Given the description of an element on the screen output the (x, y) to click on. 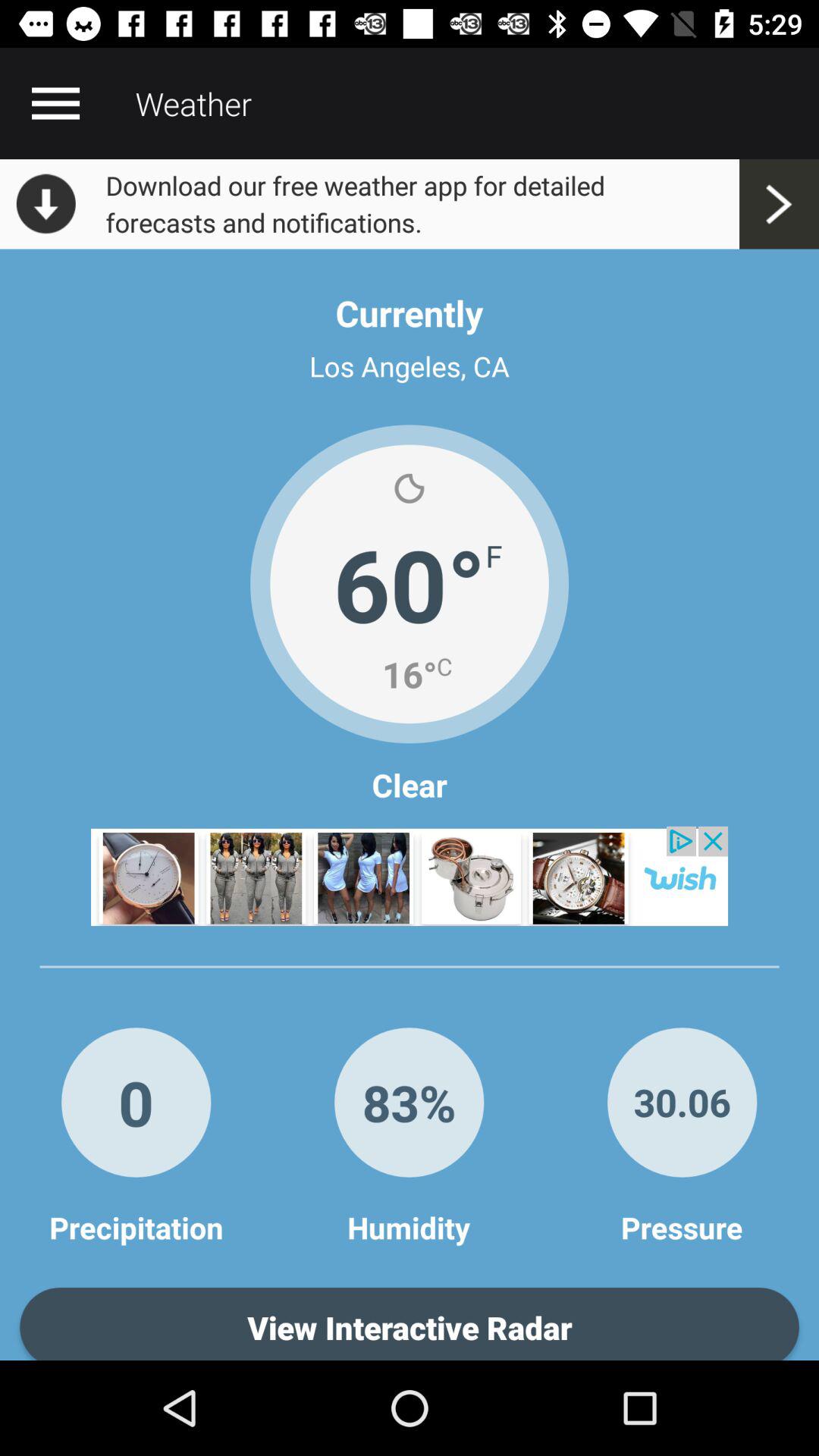
announcement (409, 875)
